Given the description of an element on the screen output the (x, y) to click on. 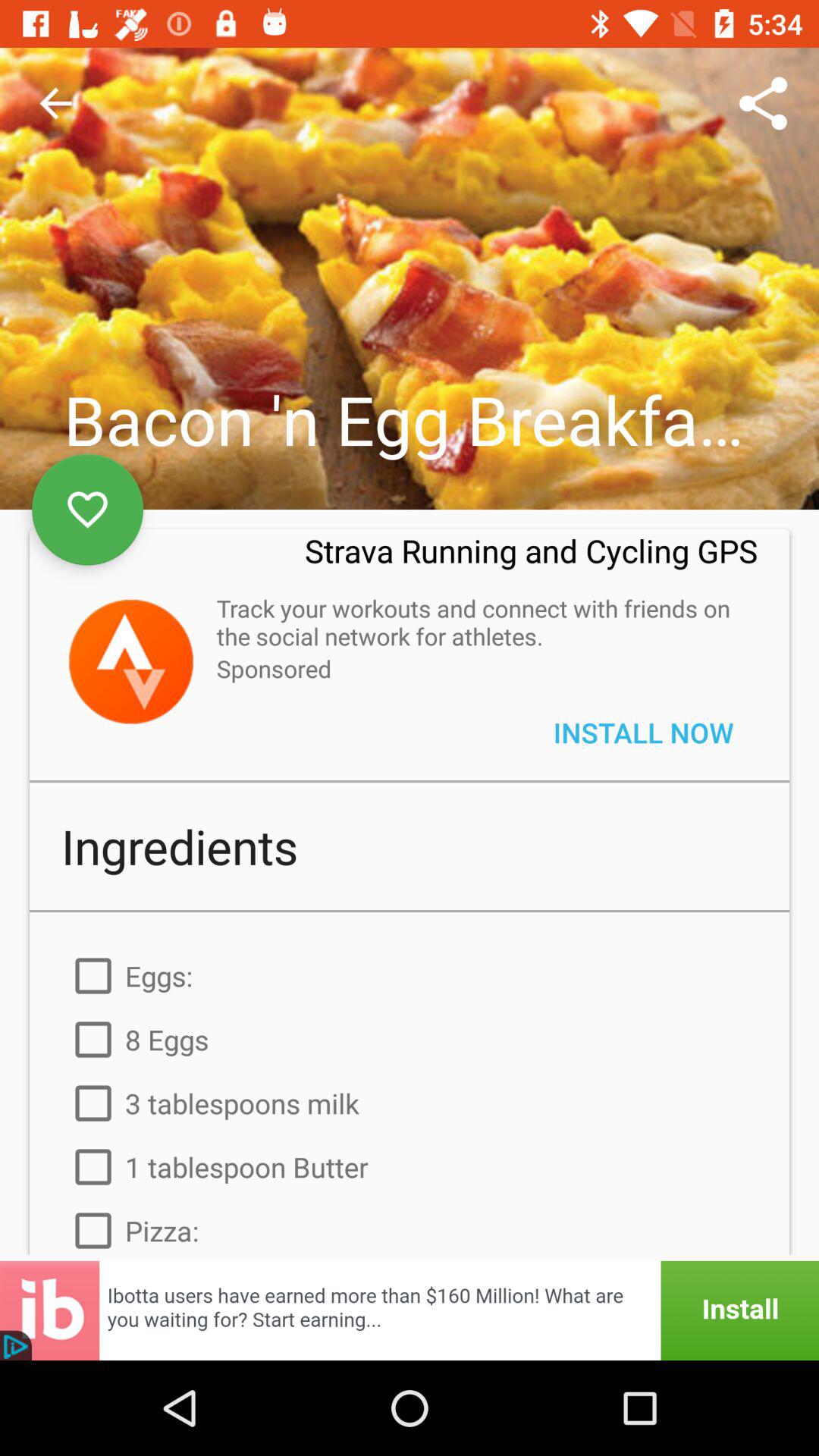
choose the strava running and item (531, 560)
